Given the description of an element on the screen output the (x, y) to click on. 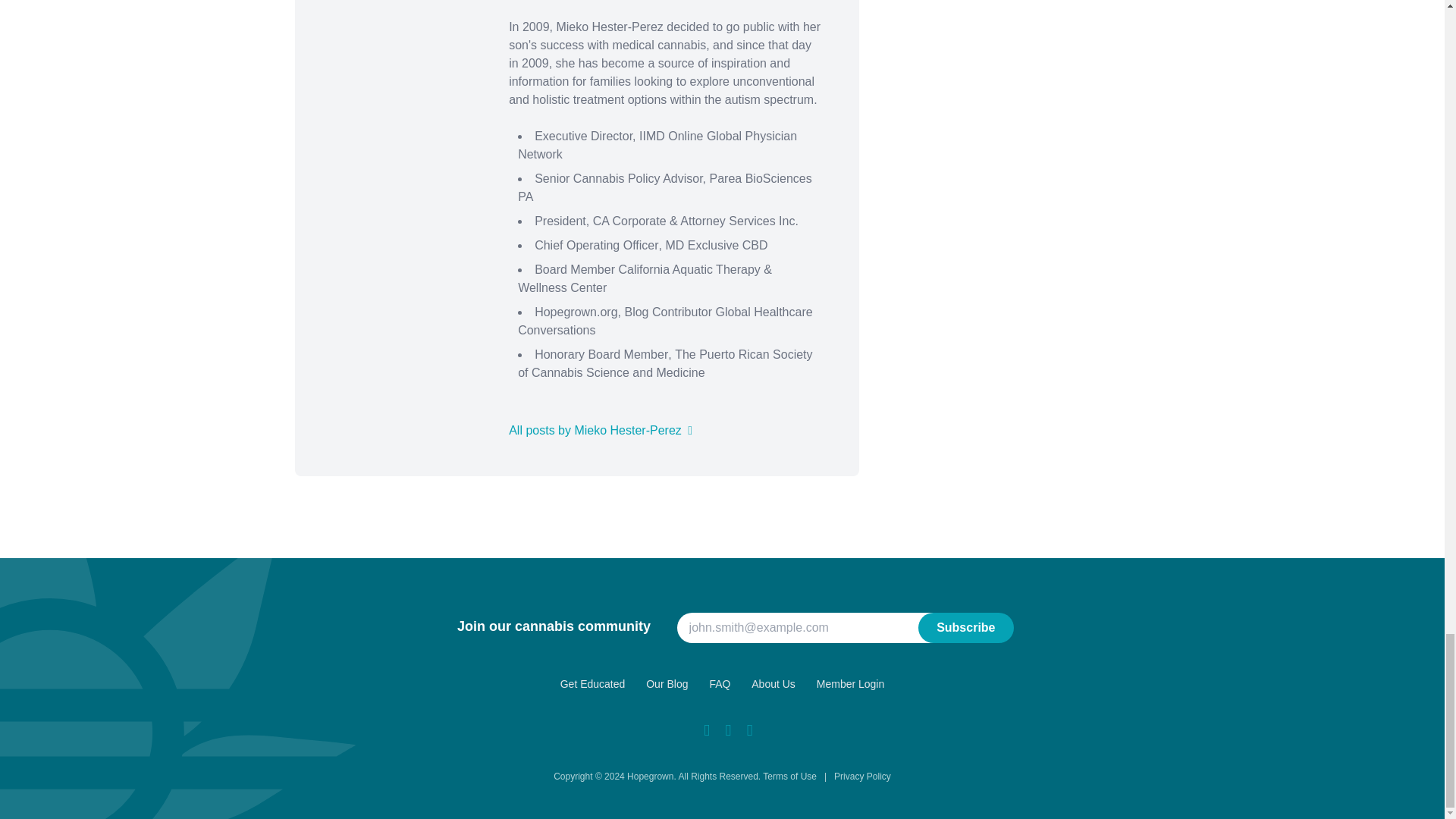
Member Login (850, 683)
Terms of Use (789, 776)
About Us (772, 683)
Subscribe (965, 627)
Privacy Policy (862, 776)
Get Educated (592, 683)
All posts by Mieko Hester-Perez (600, 430)
FAQ (719, 683)
Our Blog (666, 683)
